Given the description of an element on the screen output the (x, y) to click on. 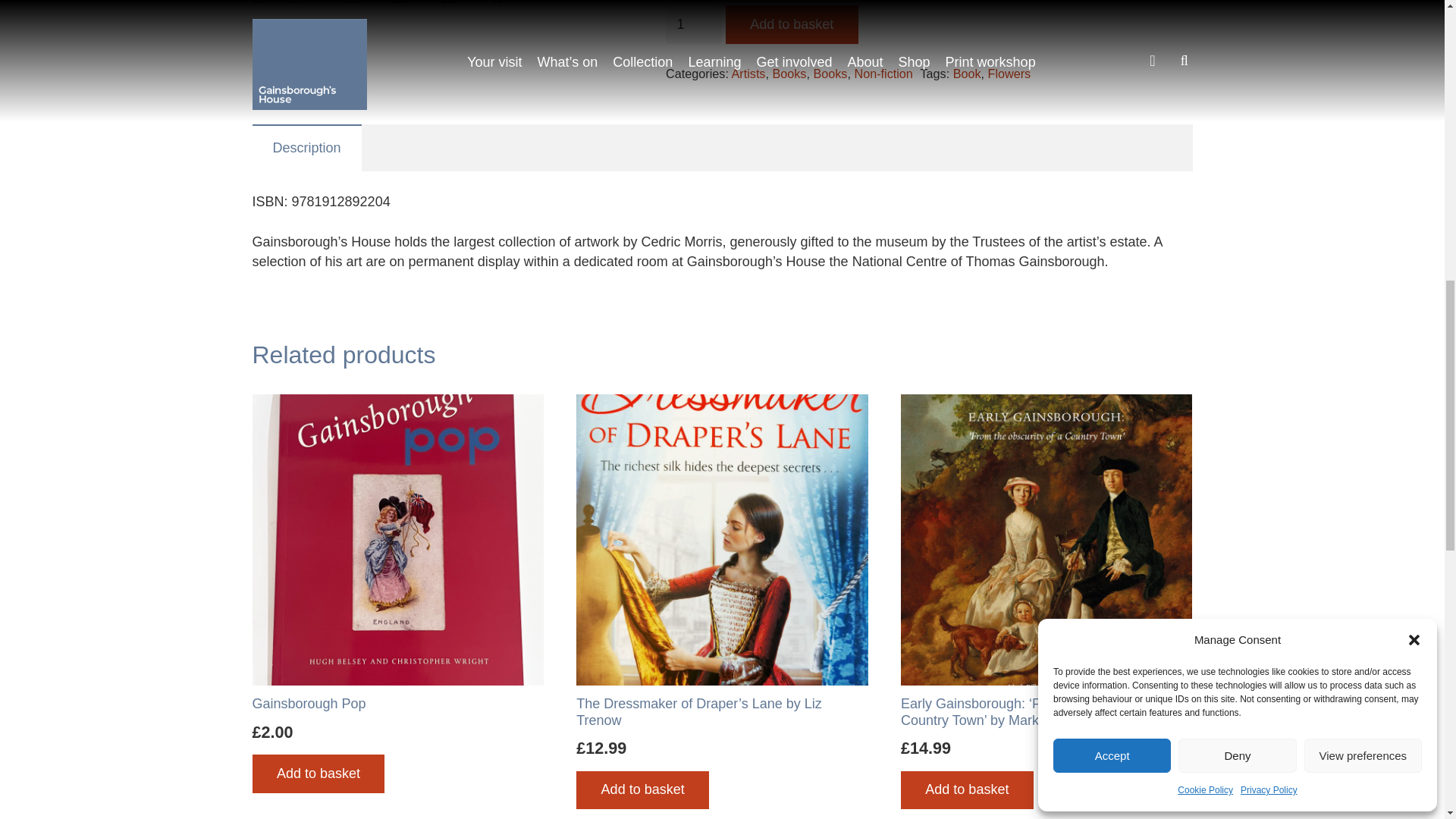
1 (693, 23)
Back to top (1413, 37)
